Given the description of an element on the screen output the (x, y) to click on. 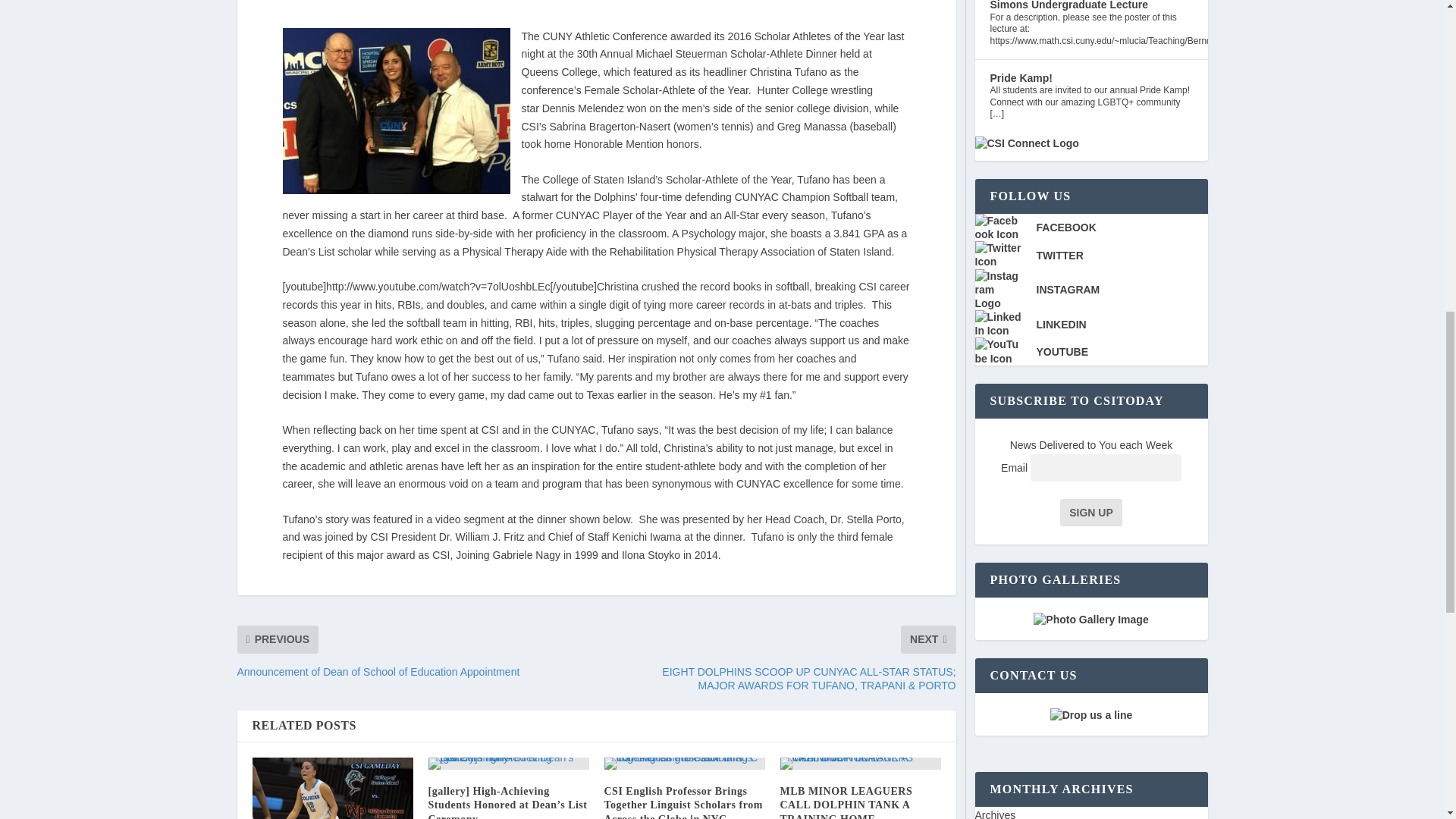
Sign up (1090, 512)
MLB MINOR LEAGUERS CALL DOLPHIN TANK A TRAINING HOME (845, 802)
MLB MINOR LEAGUERS CALL DOLPHIN TANK A TRAINING HOME (859, 763)
